Given the description of an element on the screen output the (x, y) to click on. 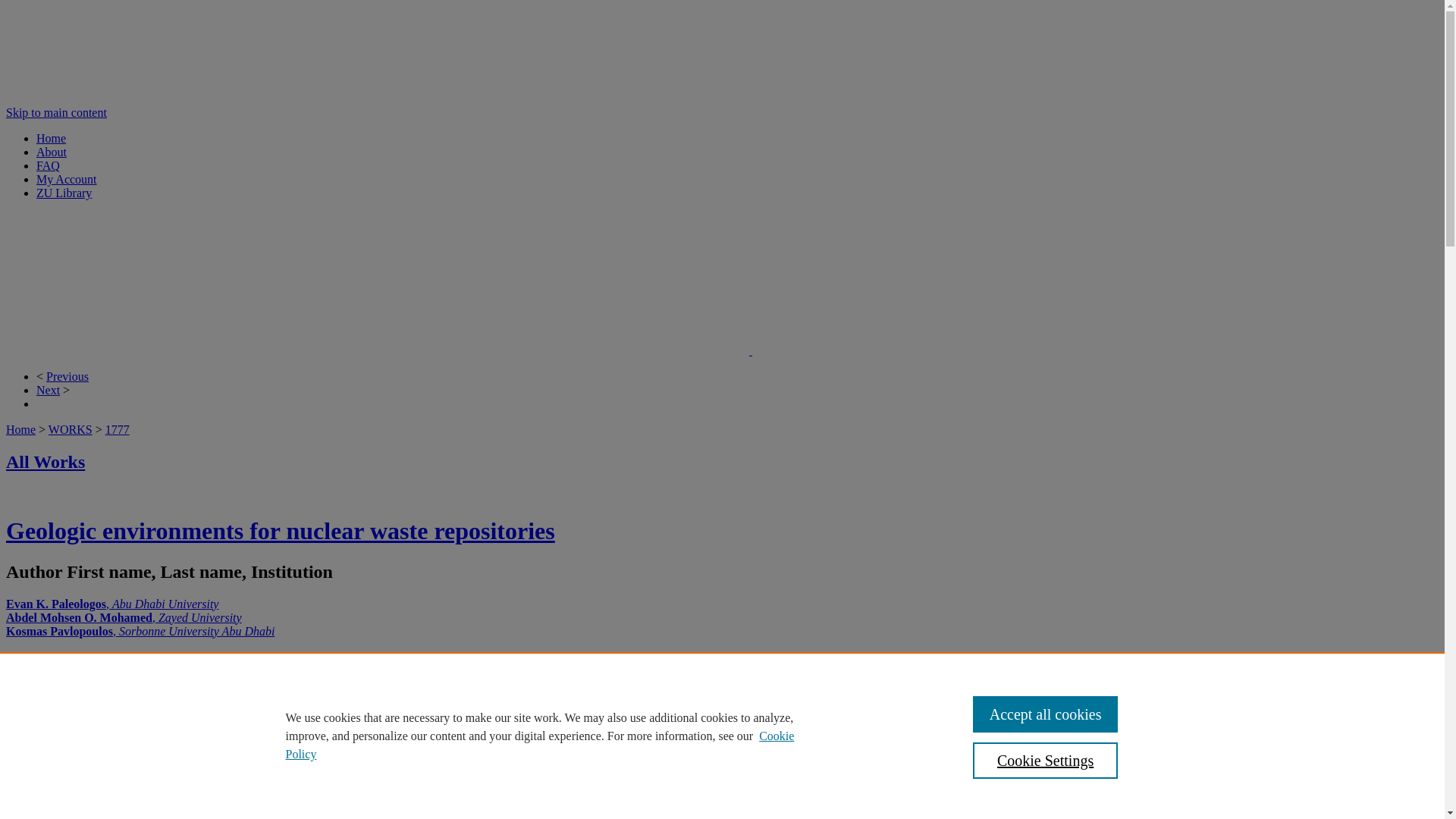
Geologic environments for nuclear waste repositories (279, 530)
FAQ (47, 164)
Home (19, 429)
About (51, 151)
My Account (66, 178)
ZU Scholars (378, 350)
Home (50, 137)
Previous (67, 376)
WORKS (70, 429)
ZU Library (63, 192)
Skip to main content (55, 112)
Zayed University (821, 350)
1777 (116, 429)
My Account (66, 178)
FAQ (47, 164)
